Given the description of an element on the screen output the (x, y) to click on. 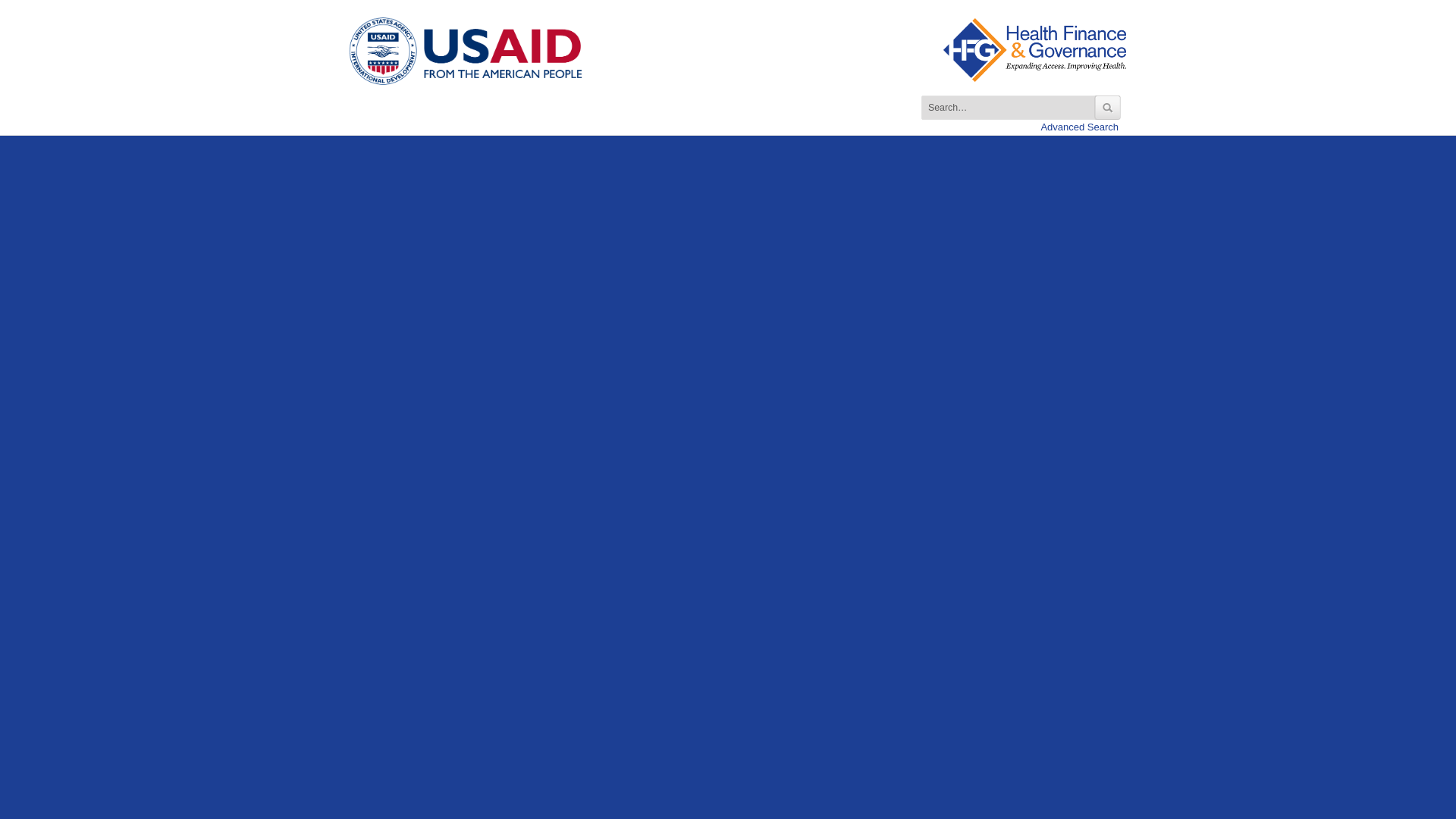
Advanced Search (1079, 126)
The Health Finance and Governance Project (479, 50)
